Given the description of an element on the screen output the (x, y) to click on. 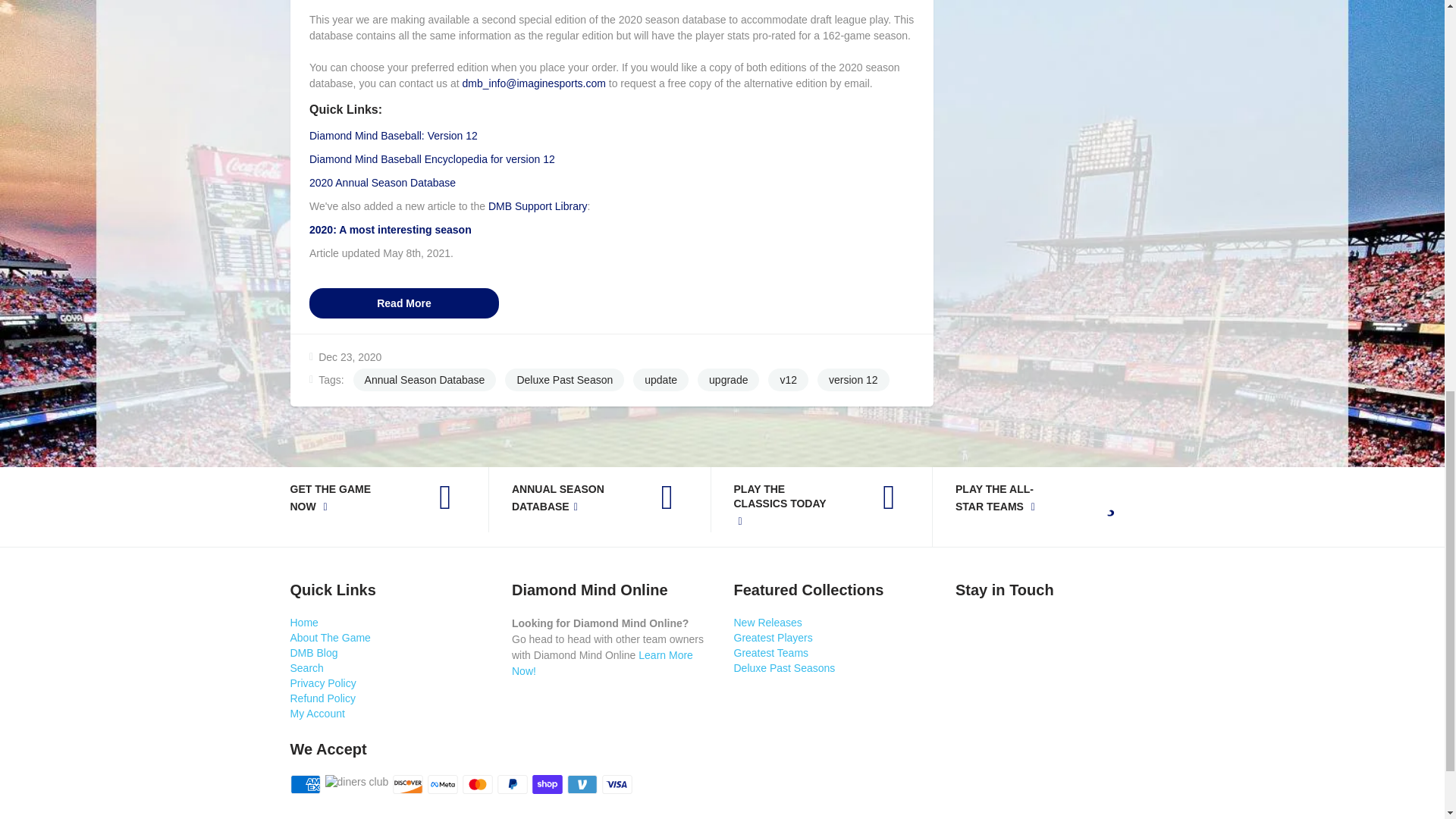
Diamond Mind Baseball Encyclopedia: Version 12 (431, 159)
Diamond Mind Baseball: Version 12 (392, 135)
2020 Annual Season Database (381, 182)
2020: A most interesting season (389, 229)
